Given the description of an element on the screen output the (x, y) to click on. 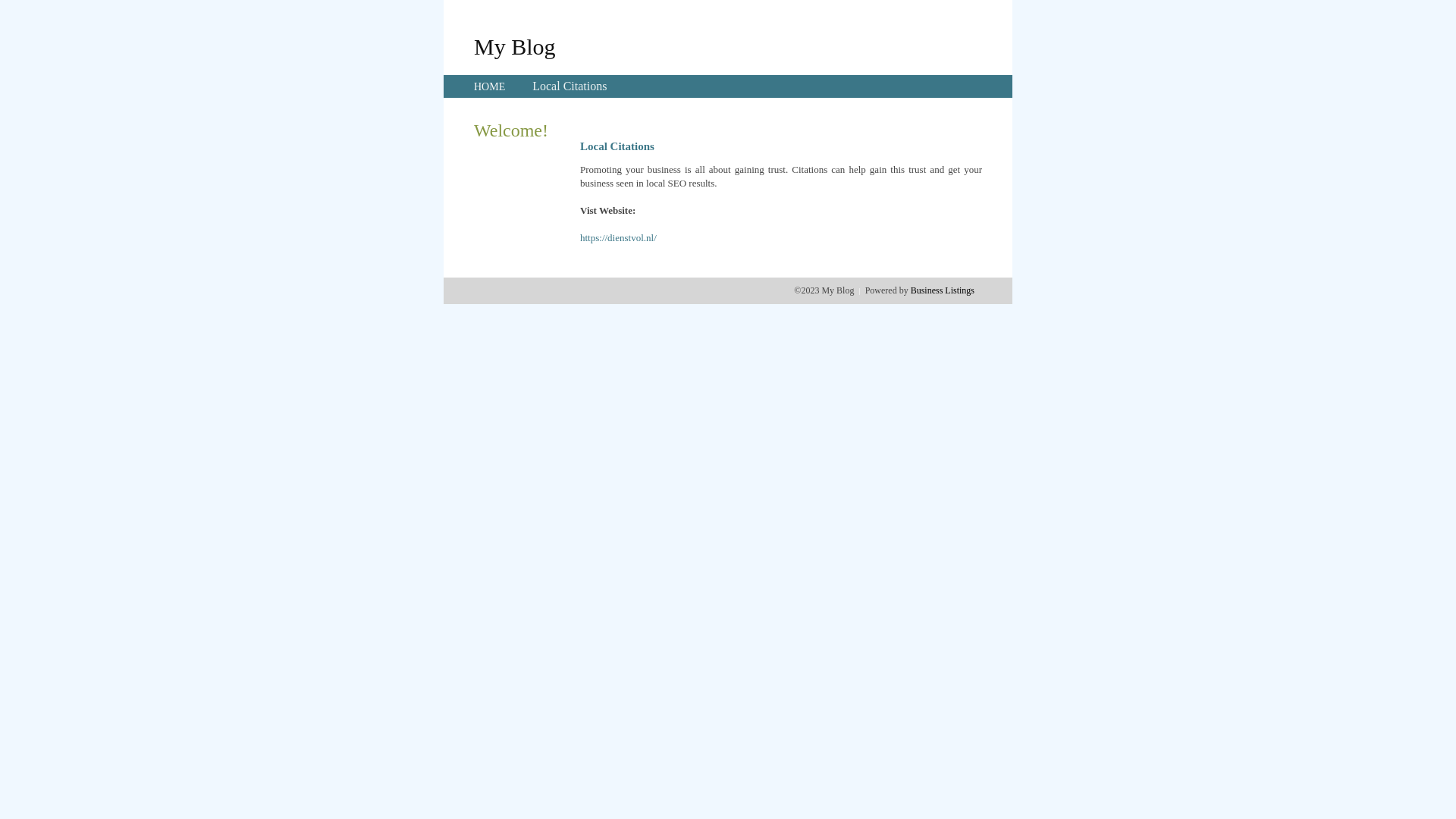
https://dienstvol.nl/ Element type: text (618, 237)
Local Citations Element type: text (569, 85)
HOME Element type: text (489, 86)
My Blog Element type: text (514, 46)
Business Listings Element type: text (942, 290)
